Given the description of an element on the screen output the (x, y) to click on. 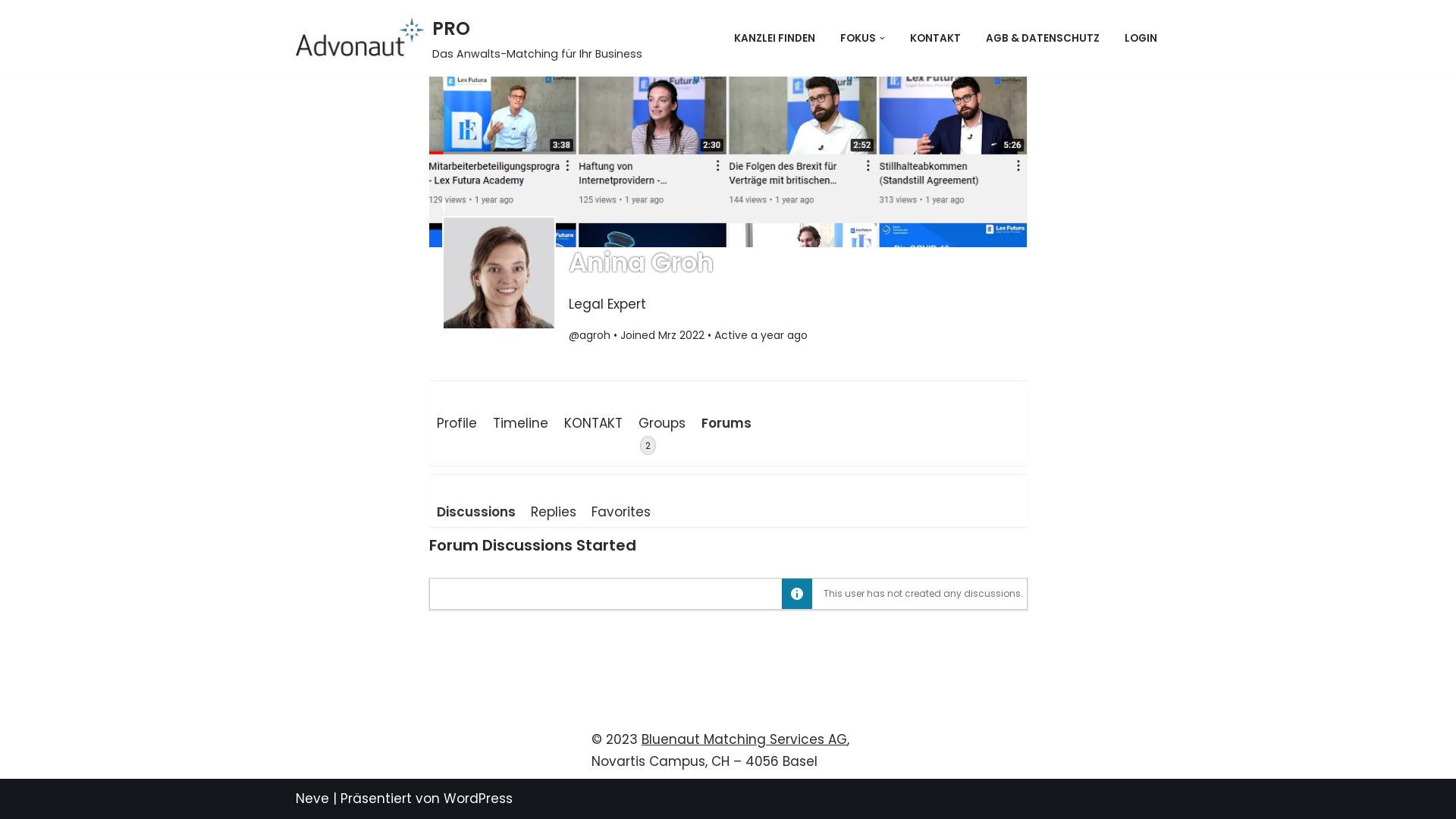
Groups
2 Element type: text (661, 435)
Replies Element type: text (553, 512)
FOKUS Element type: text (857, 37)
KONTAKT Element type: text (593, 424)
Favorites Element type: text (620, 512)
Forums Element type: text (726, 424)
Neve Element type: text (312, 798)
WordPress Element type: text (477, 798)
Timeline Element type: text (520, 424)
Discussions Element type: text (476, 512)
KONTAKT Element type: text (935, 37)
AGB & DATENSCHUTZ Element type: text (1042, 37)
LOGIN Element type: text (1140, 37)
KANZLEI FINDEN Element type: text (774, 37)
Zum Inhalt Element type: text (11, 31)
Profile Element type: text (457, 424)
Bluenaut Matching Services AG Element type: text (744, 739)
